Given the description of an element on the screen output the (x, y) to click on. 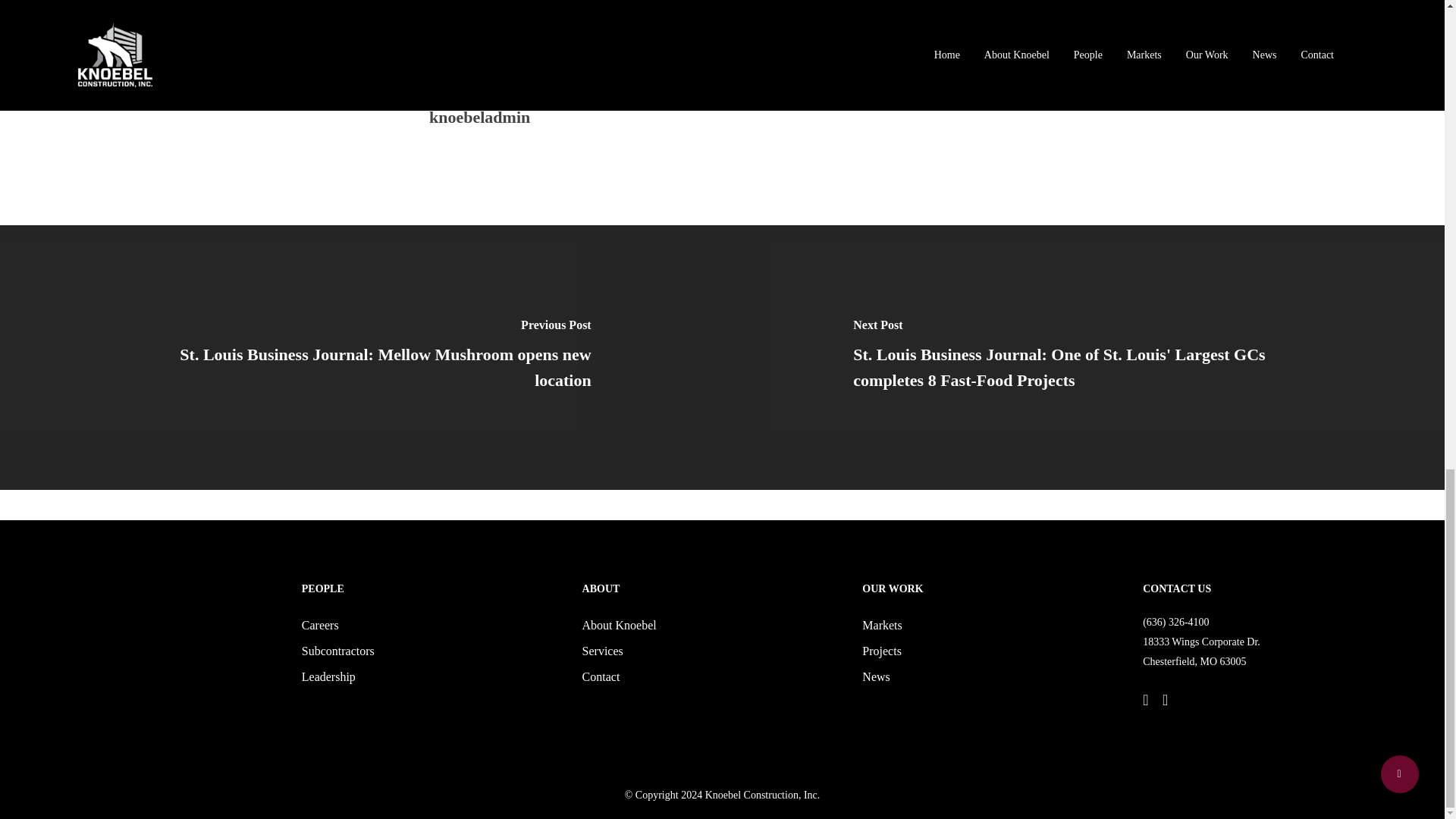
Subcontractors (427, 650)
Careers (427, 625)
knoebeladmin (479, 116)
